Given the description of an element on the screen output the (x, y) to click on. 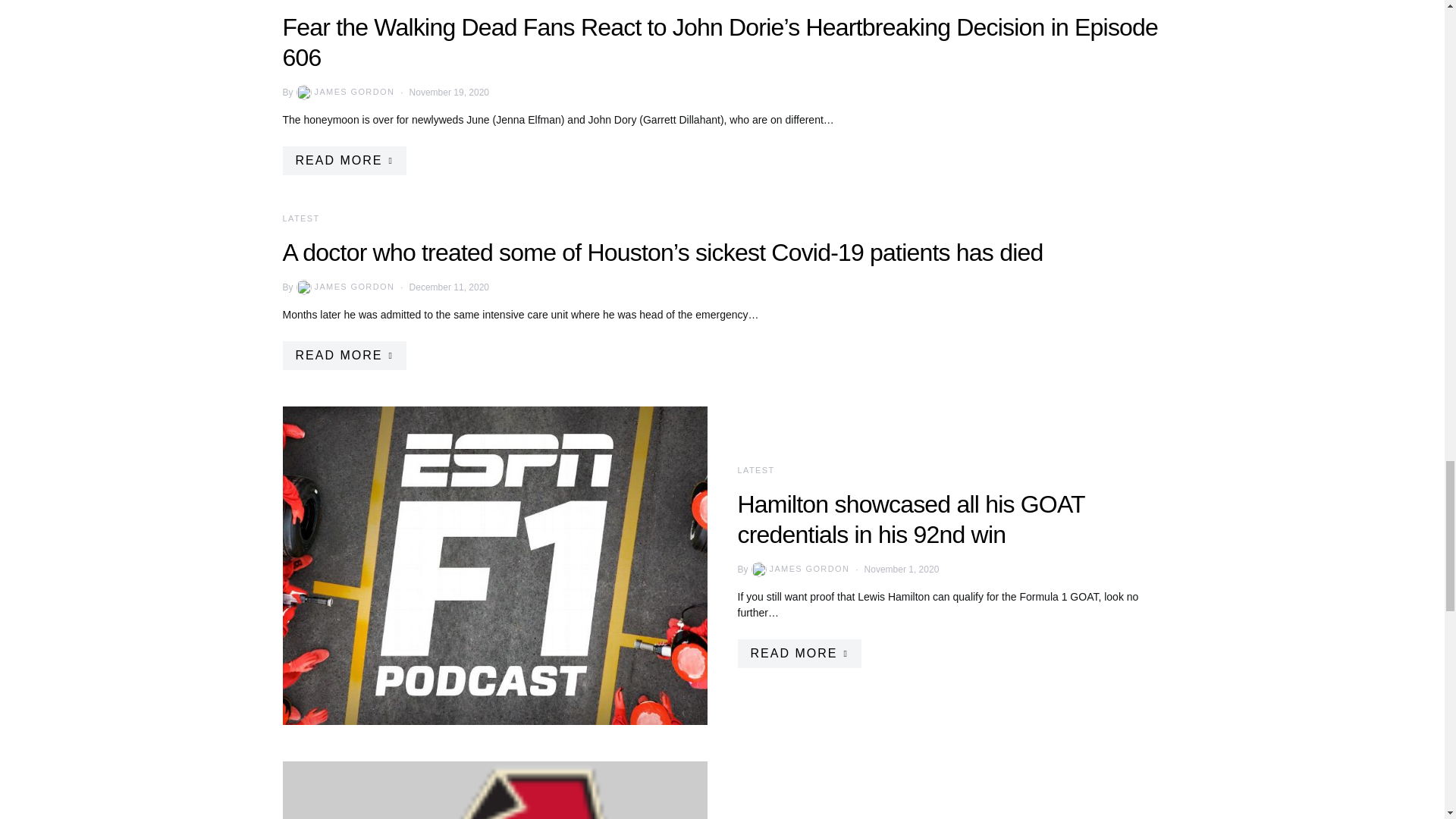
Hamilton showcased all his GOAT credentials in his 92nd win (910, 518)
READ MORE (344, 159)
View all posts by James Gordon (344, 92)
READ MORE (344, 355)
JAMES GORDON (344, 286)
LATEST (755, 470)
LATEST (300, 217)
READ MORE (798, 652)
View all posts by James Gordon (344, 286)
